Given the description of an element on the screen output the (x, y) to click on. 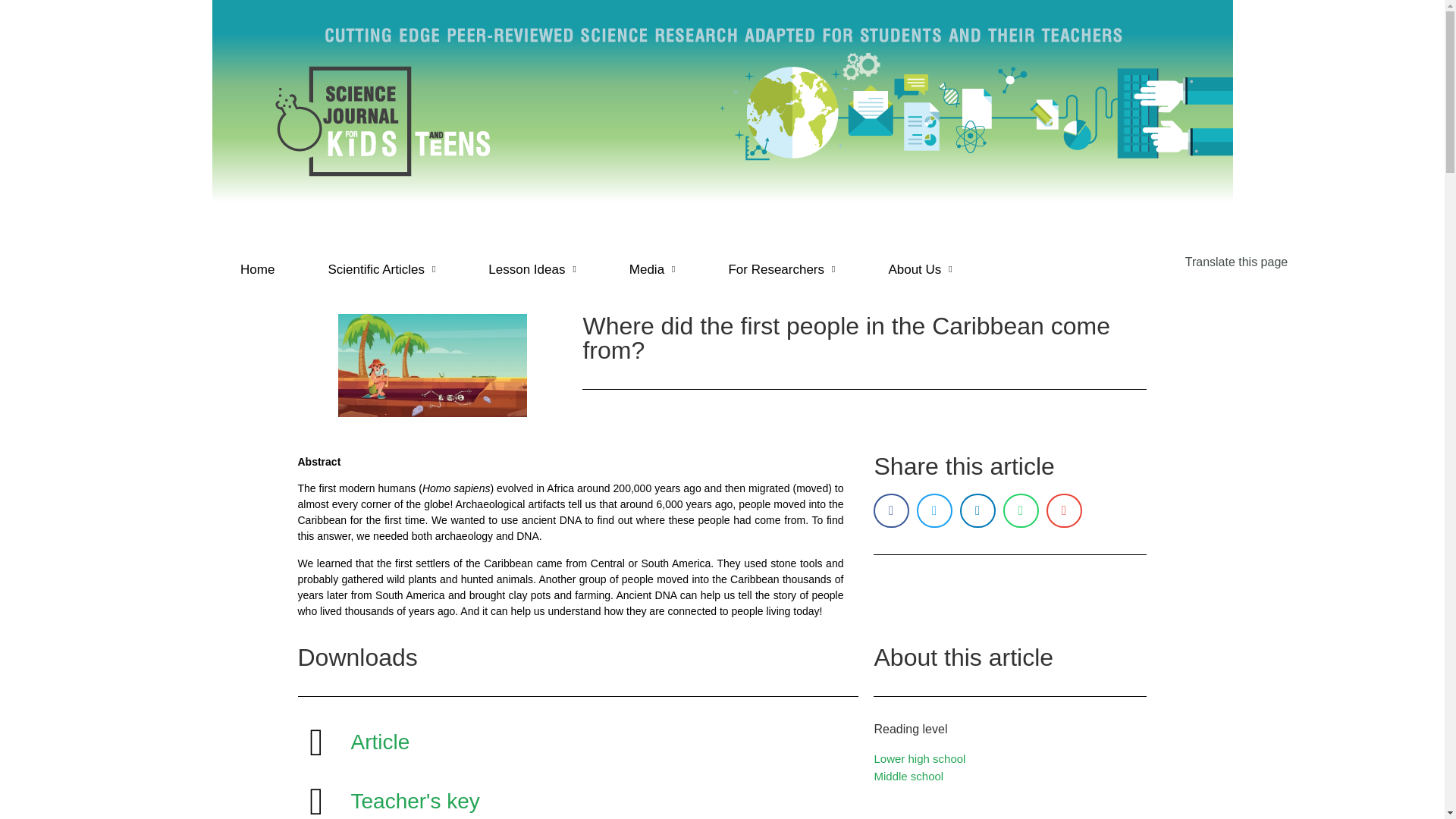
Scientific Articles (381, 269)
Home (257, 269)
